Given the description of an element on the screen output the (x, y) to click on. 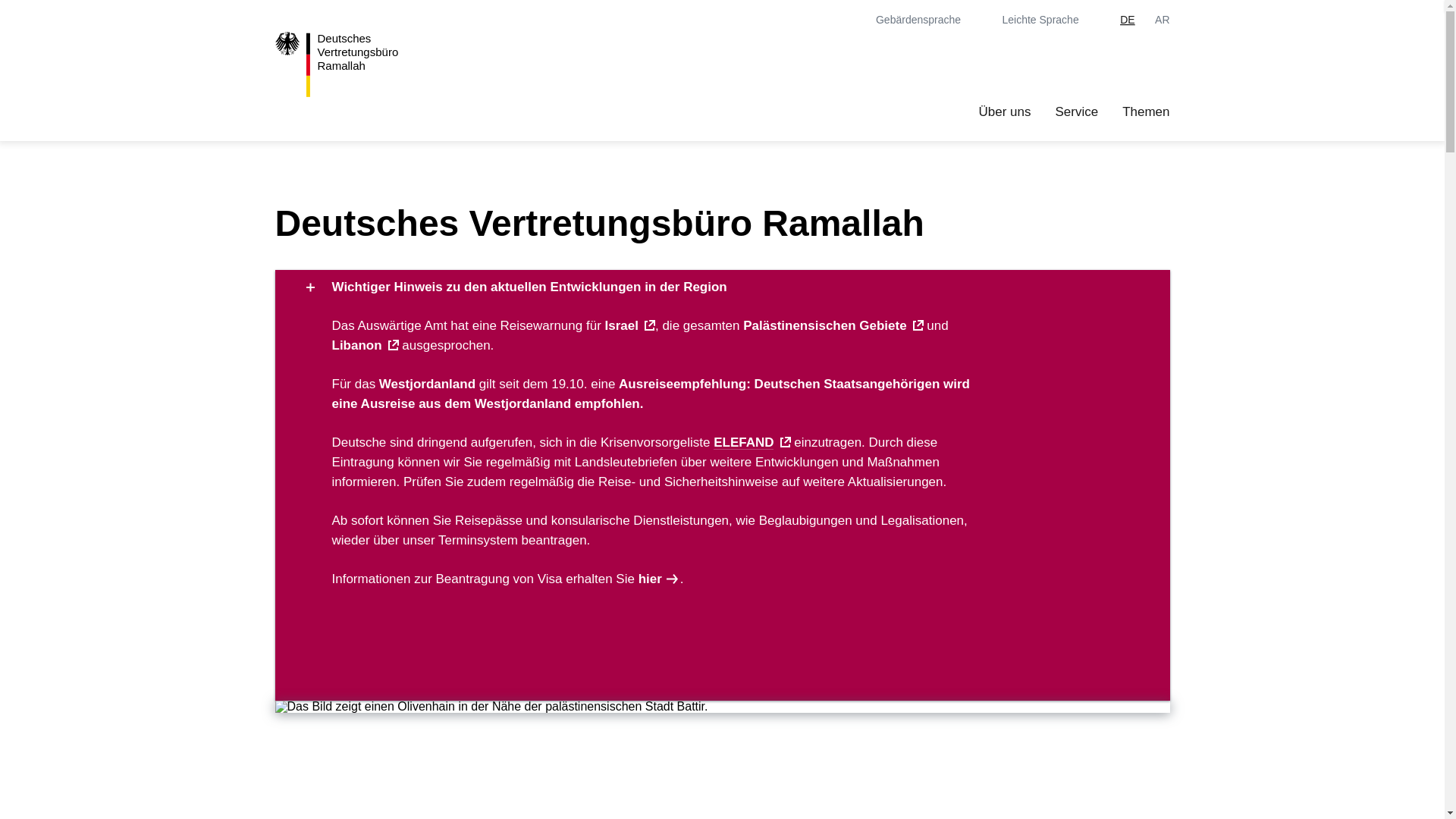
AR (1161, 20)
Visa und Einreise (659, 578)
Themen (1145, 111)
Libanon: Reise- und Sicherheitshinweise (364, 345)
Elektronische Erfassung von Deutschen im Ausland (743, 441)
Deutsch (1126, 19)
Service (1075, 111)
Leichte Sprache (1051, 20)
Israel: Reise- und Sicherheitshinweise (630, 325)
Leichte Sprache (1051, 20)
